Given the description of an element on the screen output the (x, y) to click on. 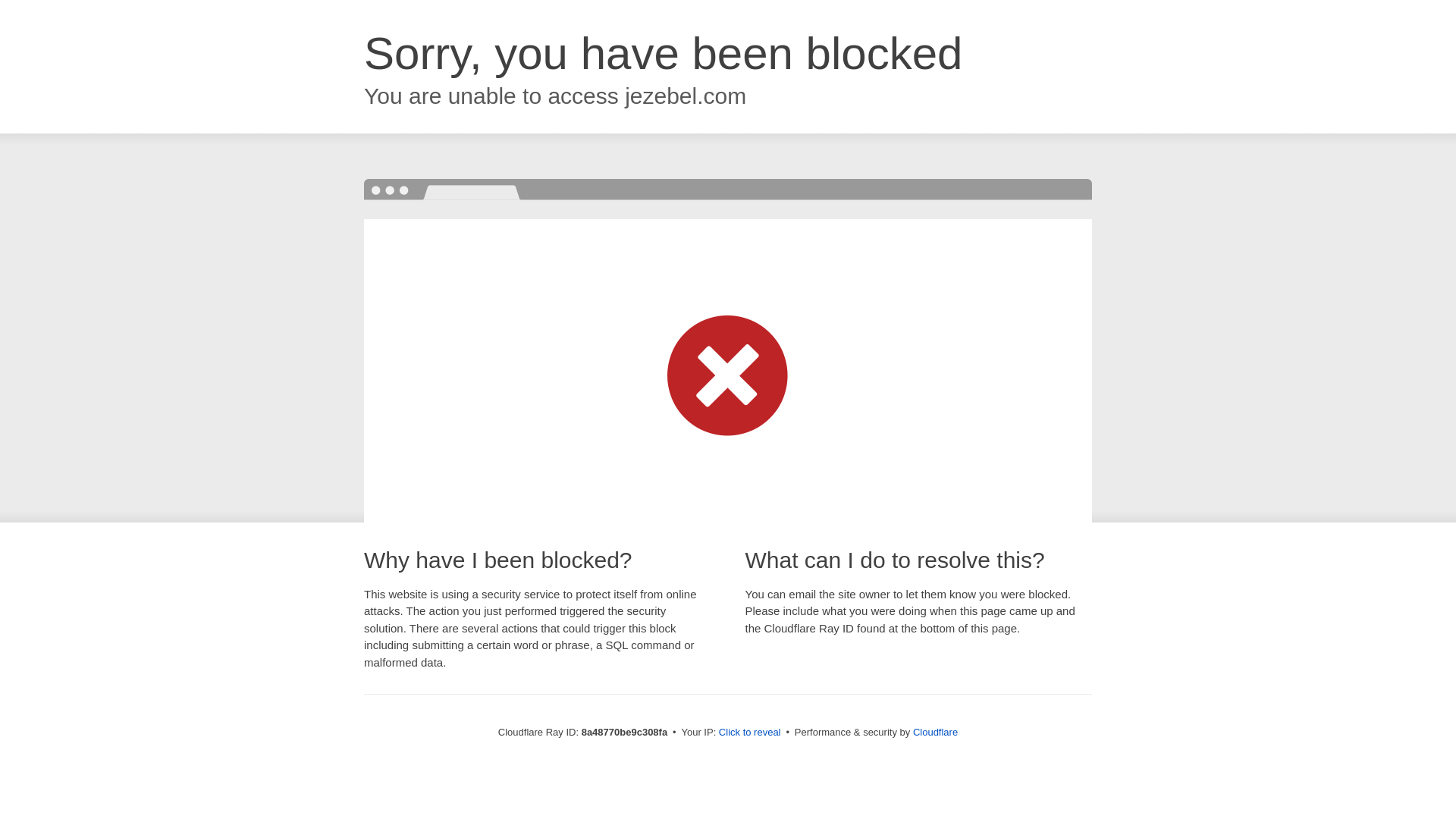
Cloudflare (935, 731)
Click to reveal (749, 732)
